Given the description of an element on the screen output the (x, y) to click on. 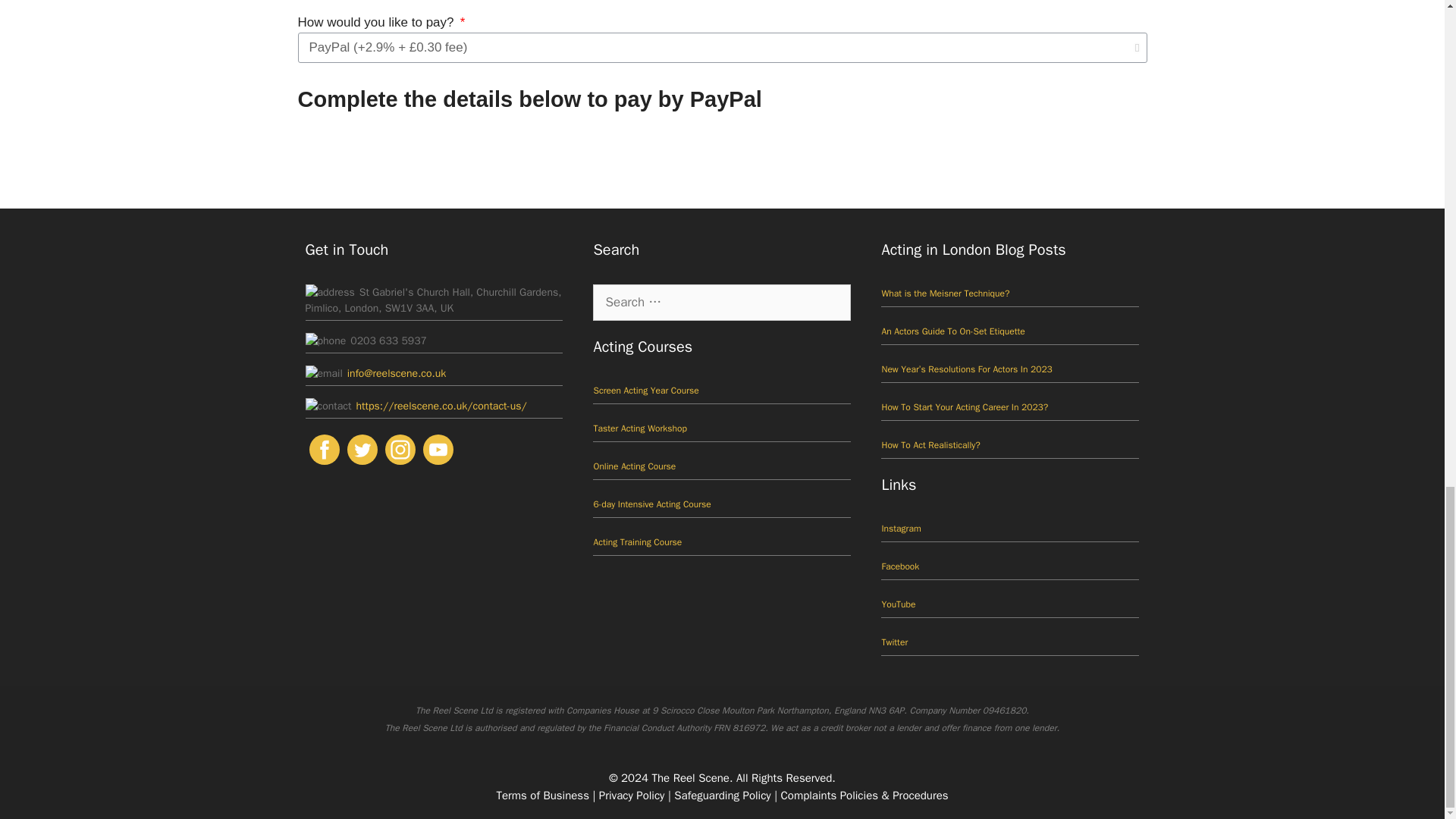
Search for: (721, 302)
